Given the description of an element on the screen output the (x, y) to click on. 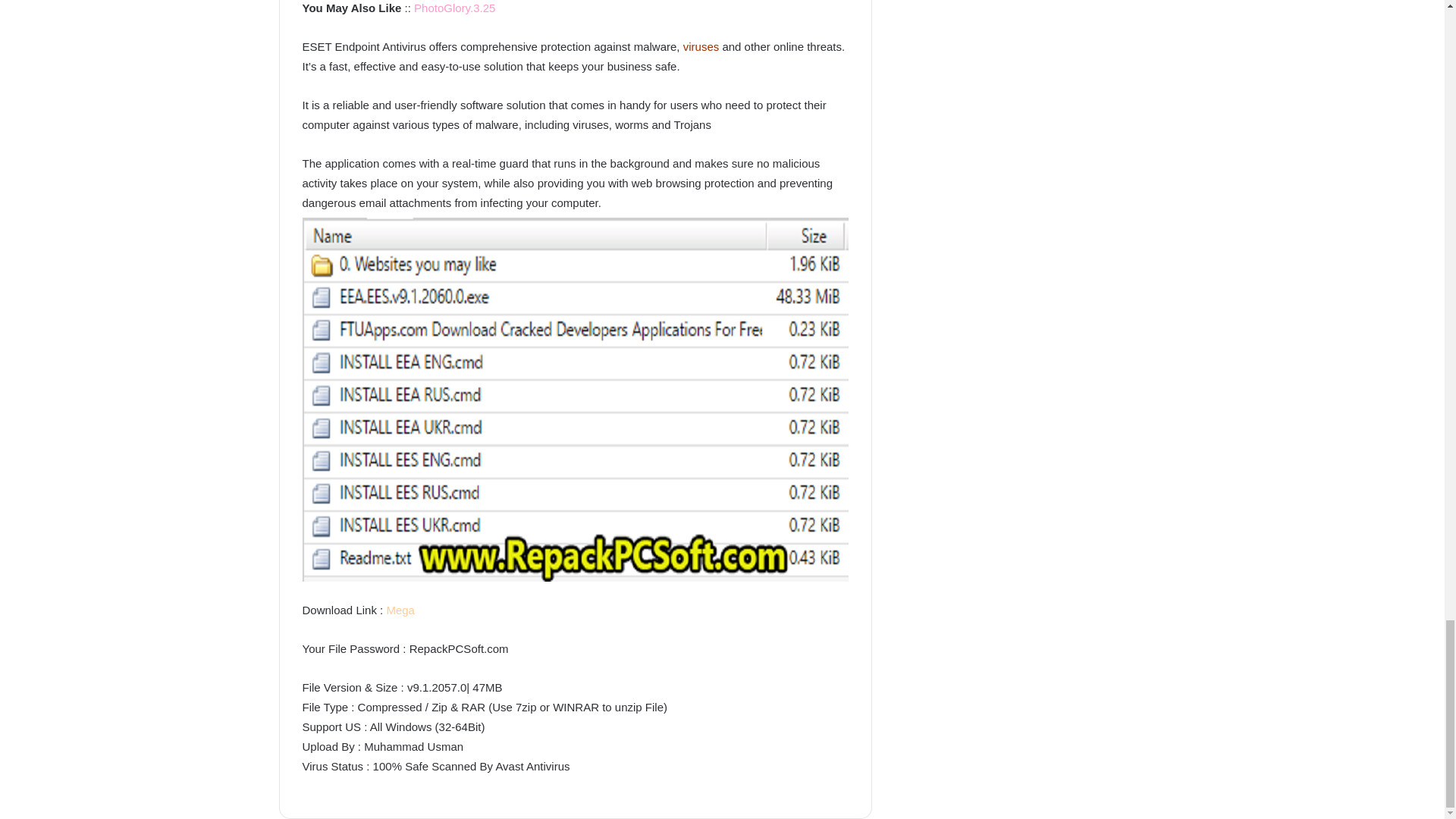
Mega (399, 609)
viruses (700, 46)
PhotoGlory.3.25 (454, 7)
